Given the description of an element on the screen output the (x, y) to click on. 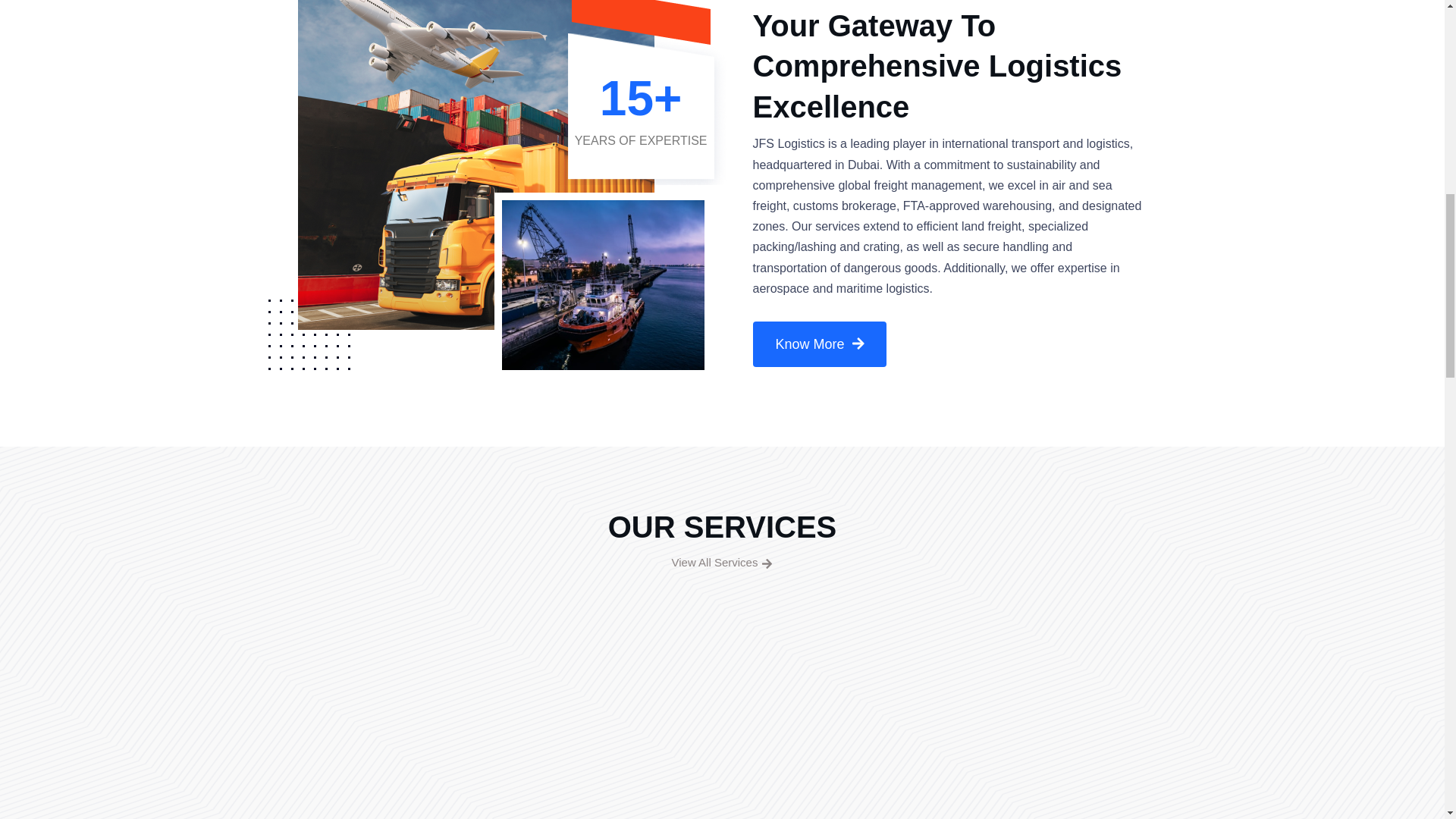
View All Services (722, 562)
Know More (819, 343)
